Given the description of an element on the screen output the (x, y) to click on. 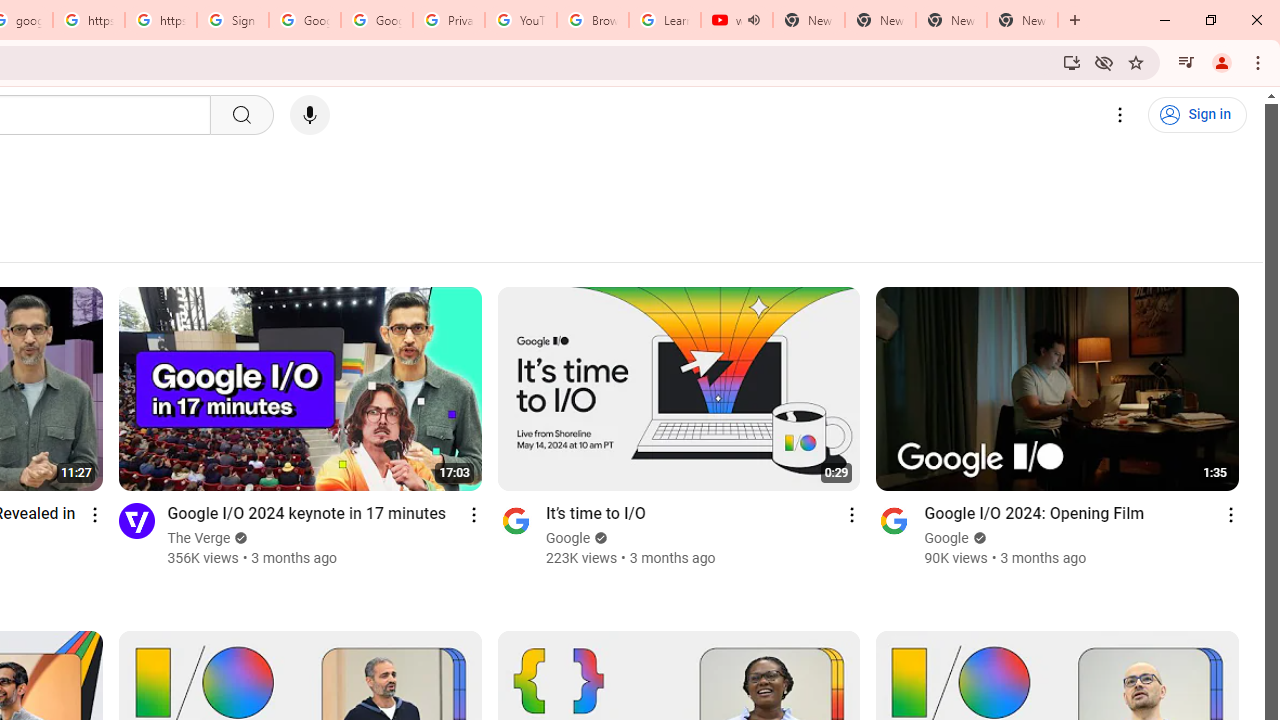
Search with your voice (309, 115)
